Given the description of an element on the screen output the (x, y) to click on. 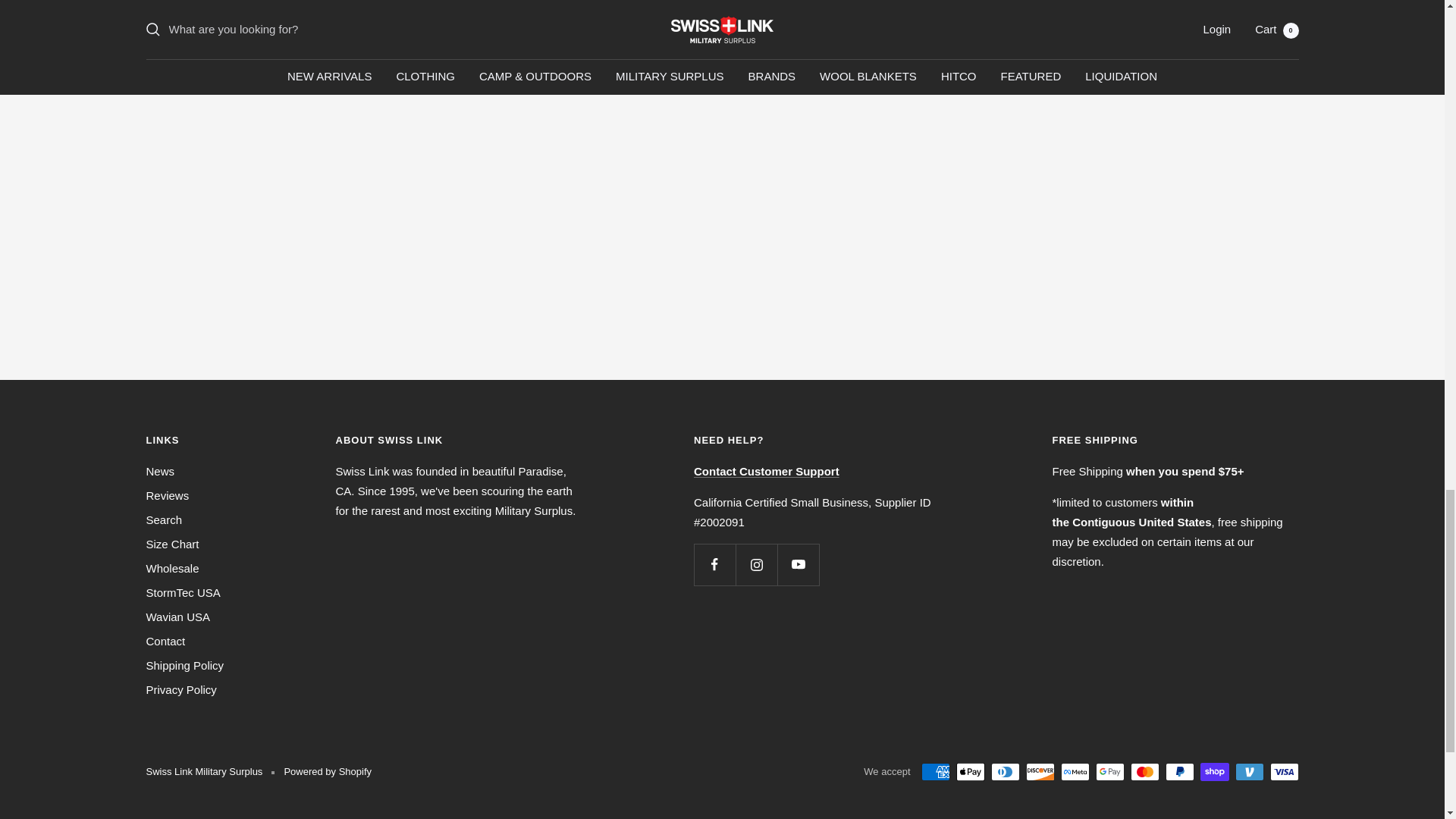
Customer Support (767, 471)
